Given the description of an element on the screen output the (x, y) to click on. 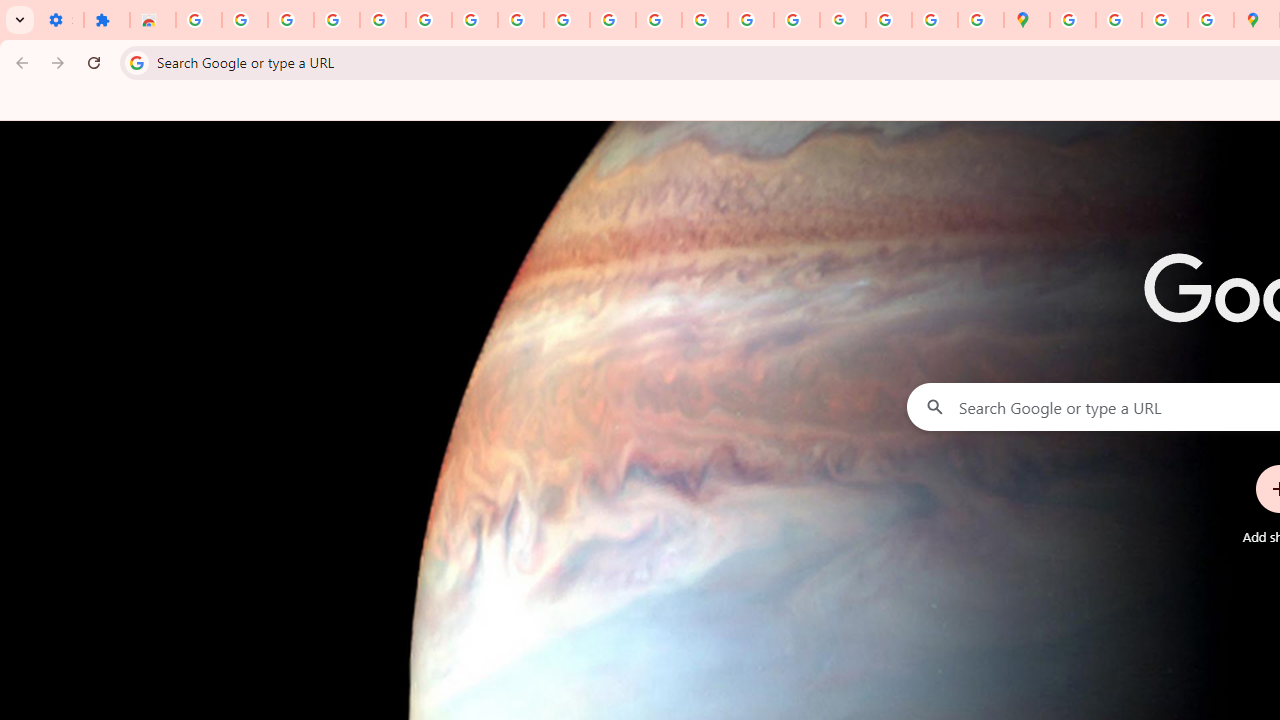
Google Maps (1026, 20)
Delete photos & videos - Computer - Google Photos Help (290, 20)
Sign in - Google Accounts (428, 20)
Sign in - Google Accounts (198, 20)
